Given the description of an element on the screen output the (x, y) to click on. 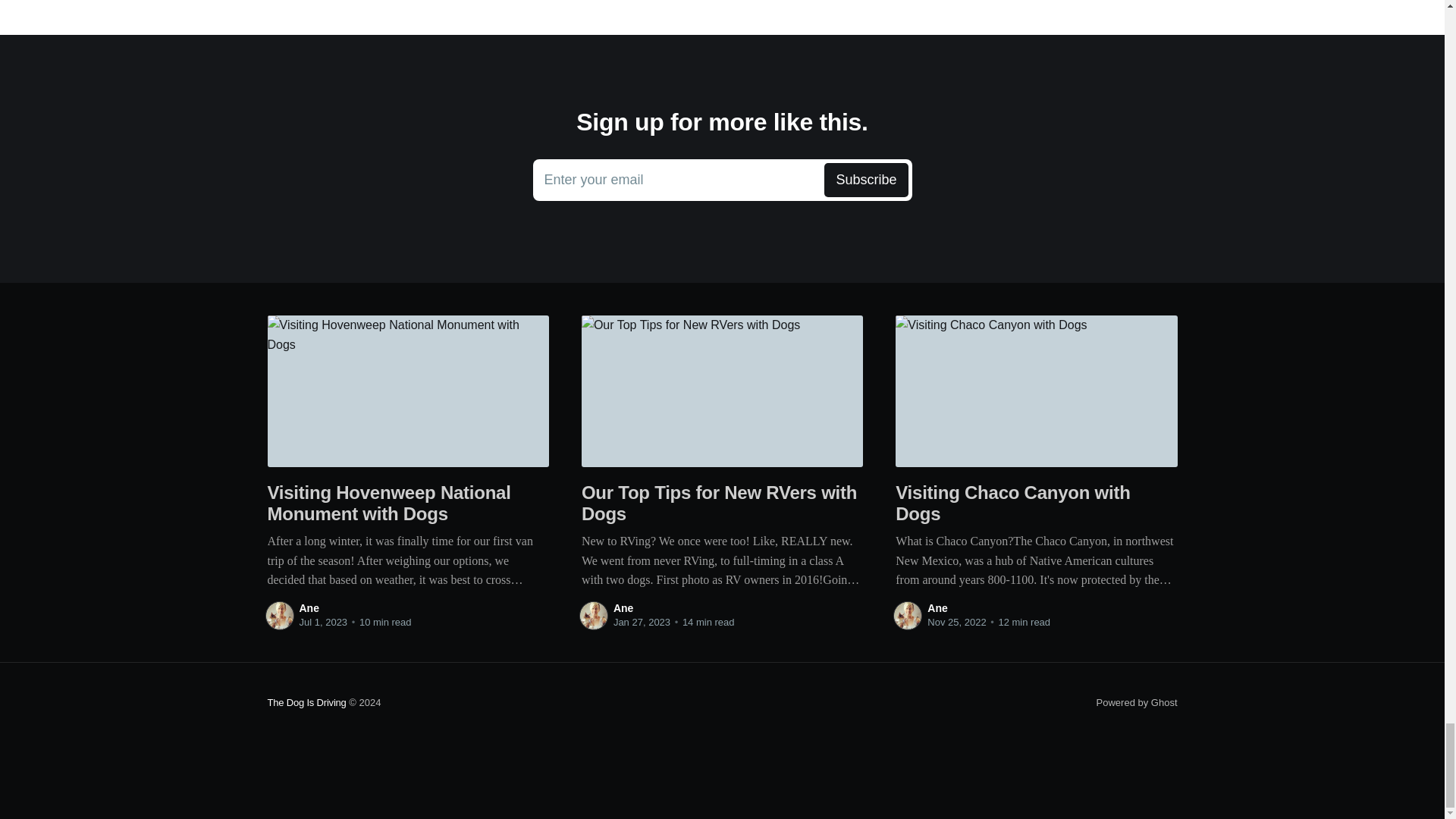
The Dog Is Driving (306, 702)
Ane (622, 607)
Powered by Ghost (1136, 702)
Ane (721, 179)
Ane (308, 607)
